Given the description of an element on the screen output the (x, y) to click on. 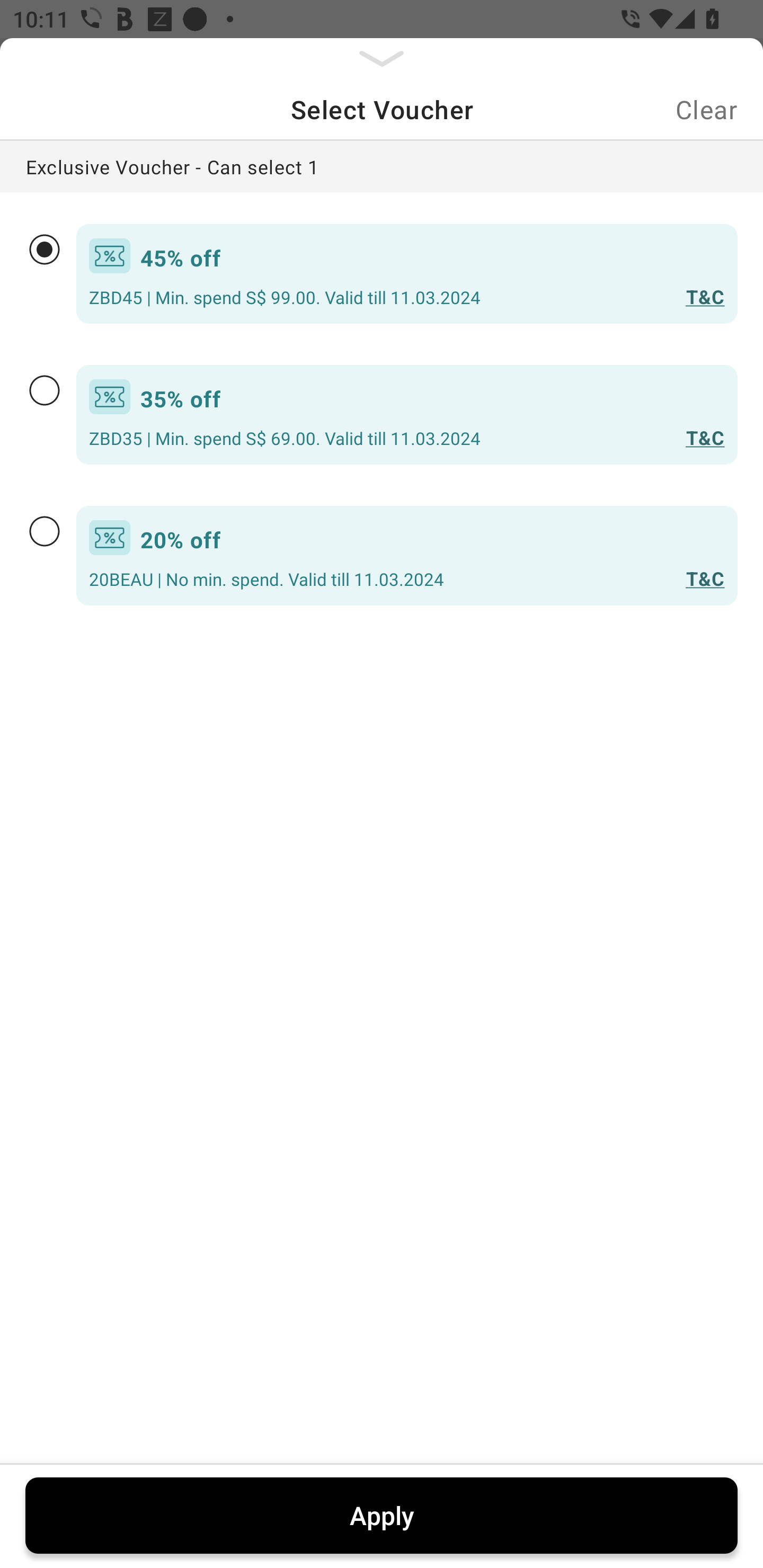
Clear (706, 109)
T&C (701, 296)
T&C (701, 438)
T&C (701, 579)
Apply (381, 1515)
